Given the description of an element on the screen output the (x, y) to click on. 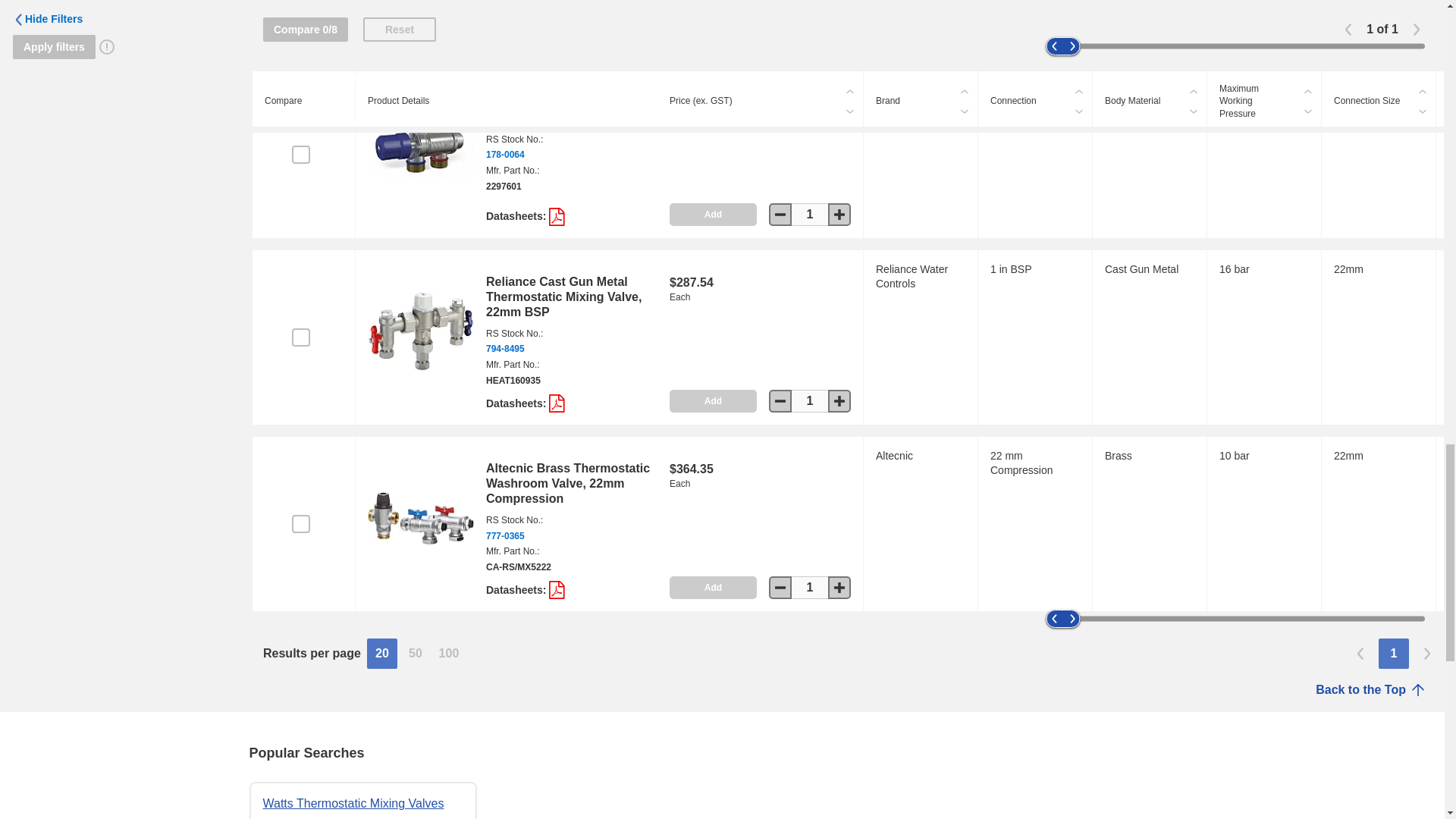
1 (810, 35)
1 (810, 214)
on (299, 524)
on (299, 337)
1 (810, 400)
on (299, 154)
